Given the description of an element on the screen output the (x, y) to click on. 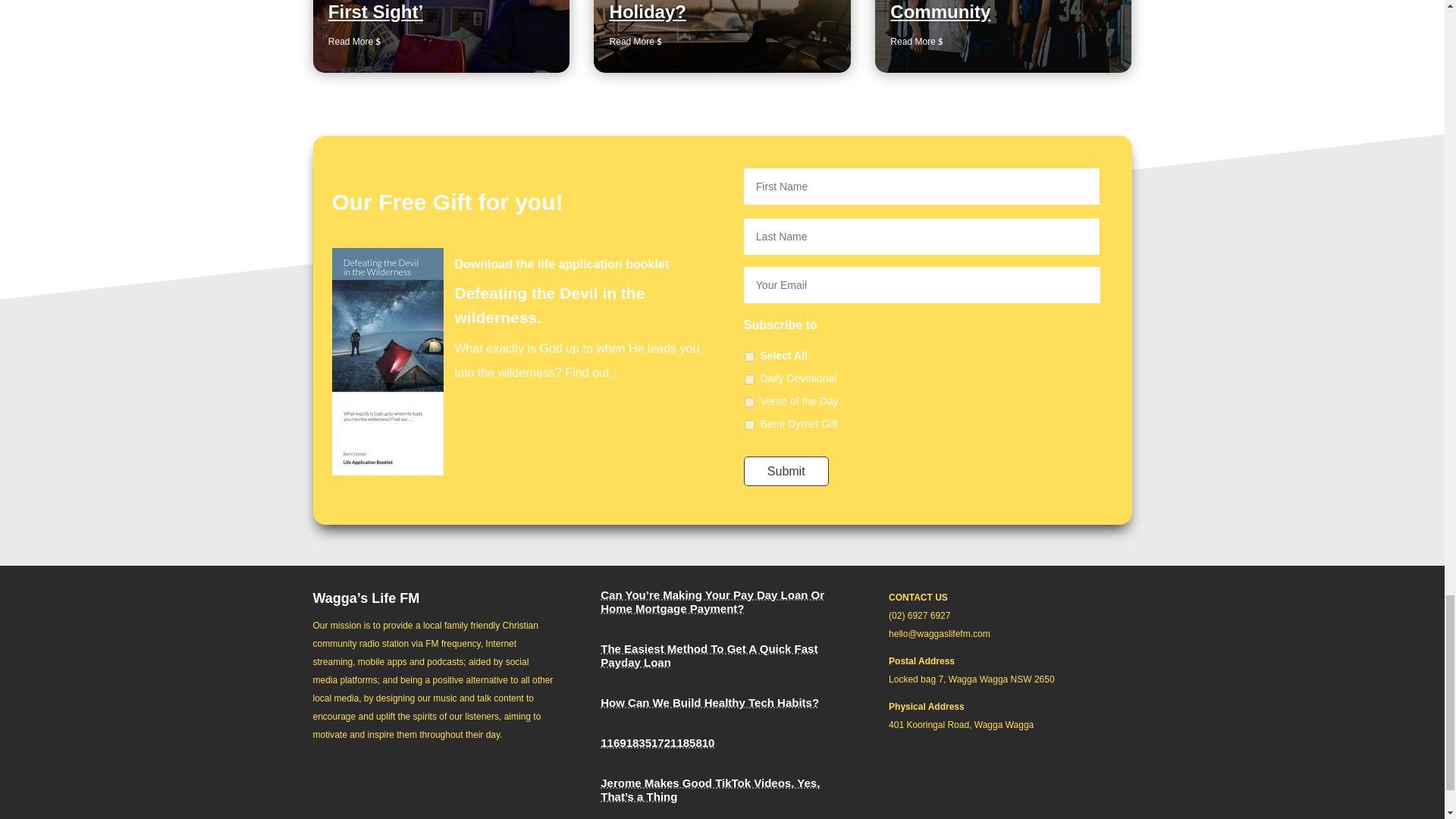
Verse of the Day (749, 402)
Daily Devotional (749, 379)
on (749, 356)
Submit (786, 471)
Berni Dymet Gift (749, 424)
